Given the description of an element on the screen output the (x, y) to click on. 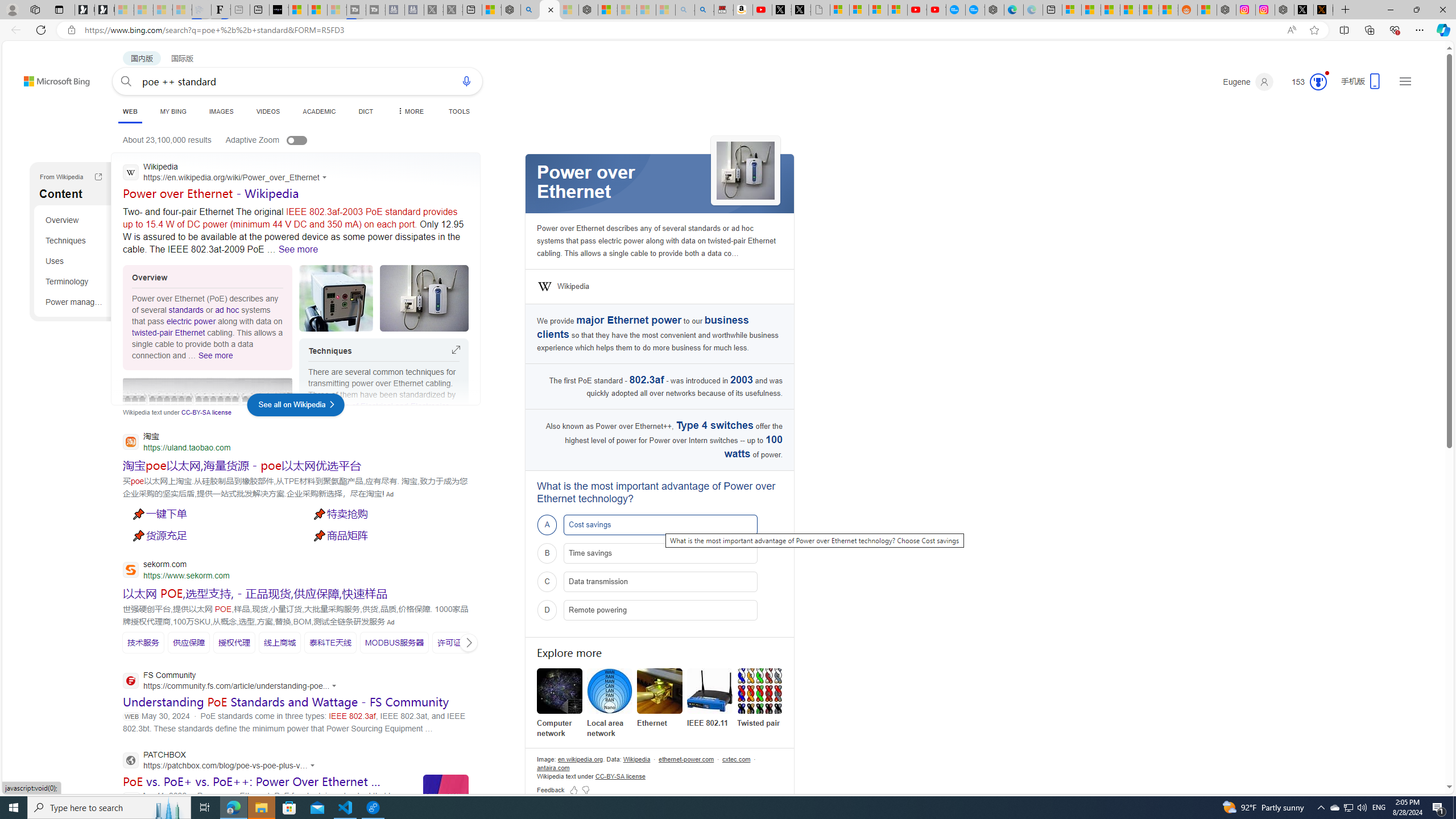
SERP,5929 (279, 642)
Adaptive Zoom (277, 139)
VIDEOS (268, 111)
Skip to content (35, 76)
Class: spl_logobg (659, 182)
Class: medal-circled (1317, 81)
See all on Wikipedia See more (296, 404)
TOOLS (459, 111)
CC-BY-SA license (620, 776)
SERP,5931 (394, 642)
